Given the description of an element on the screen output the (x, y) to click on. 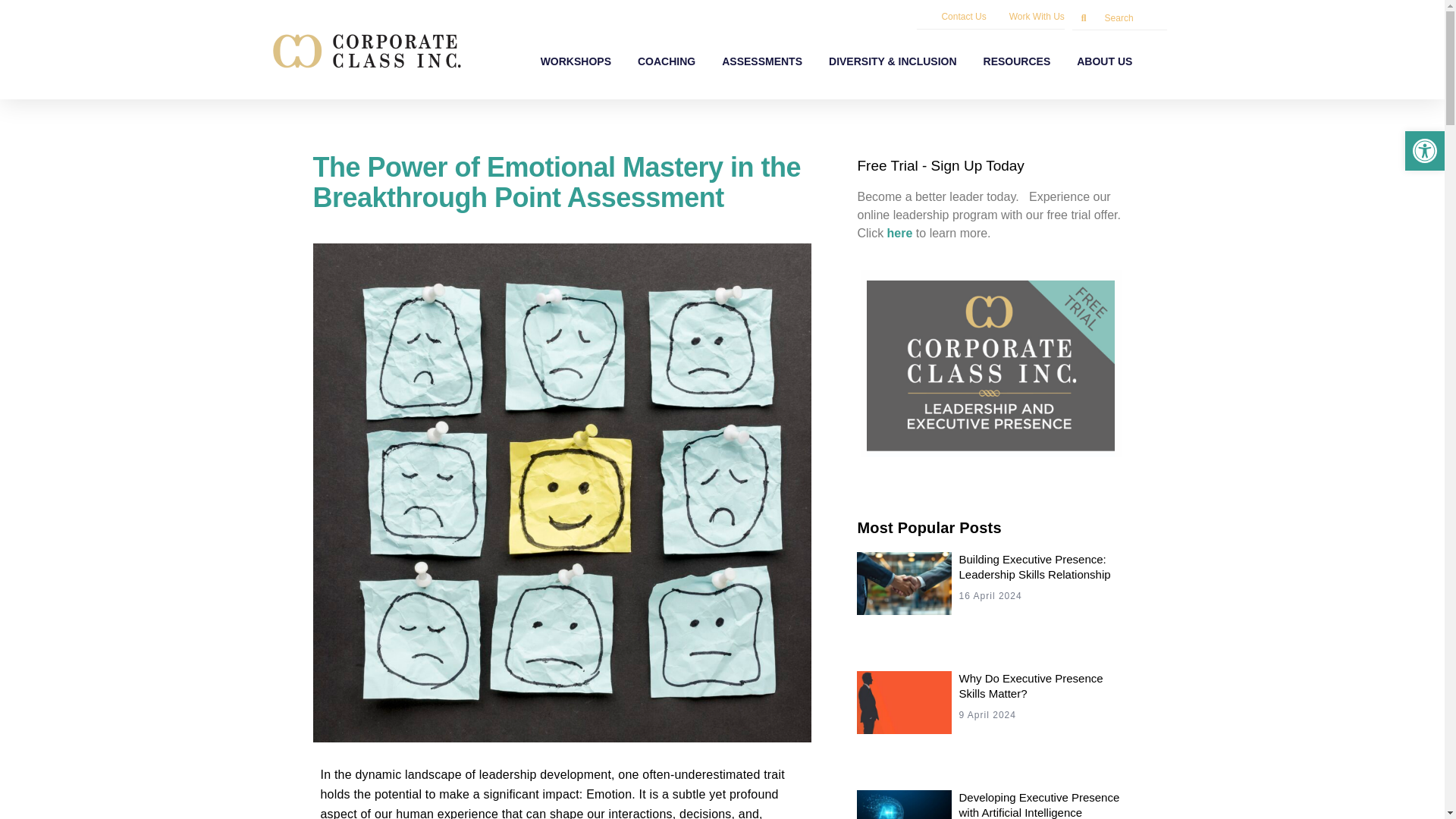
Accessibility Tools (1424, 150)
WORKSHOPS (575, 61)
Contact Us (962, 16)
Work With Us (1036, 16)
